Given the description of an element on the screen output the (x, y) to click on. 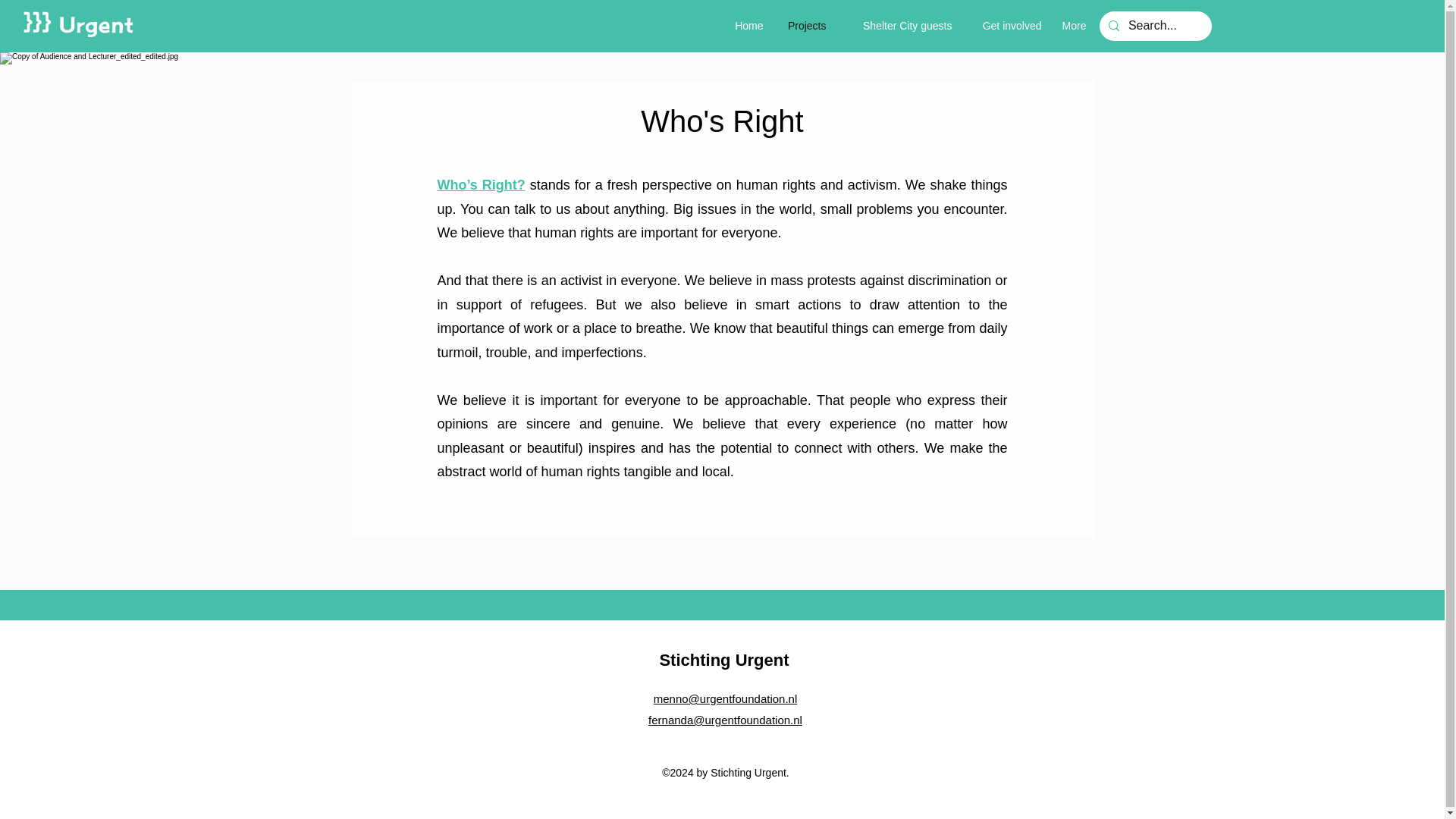
Home (746, 26)
Projects (801, 26)
